Given the description of an element on the screen output the (x, y) to click on. 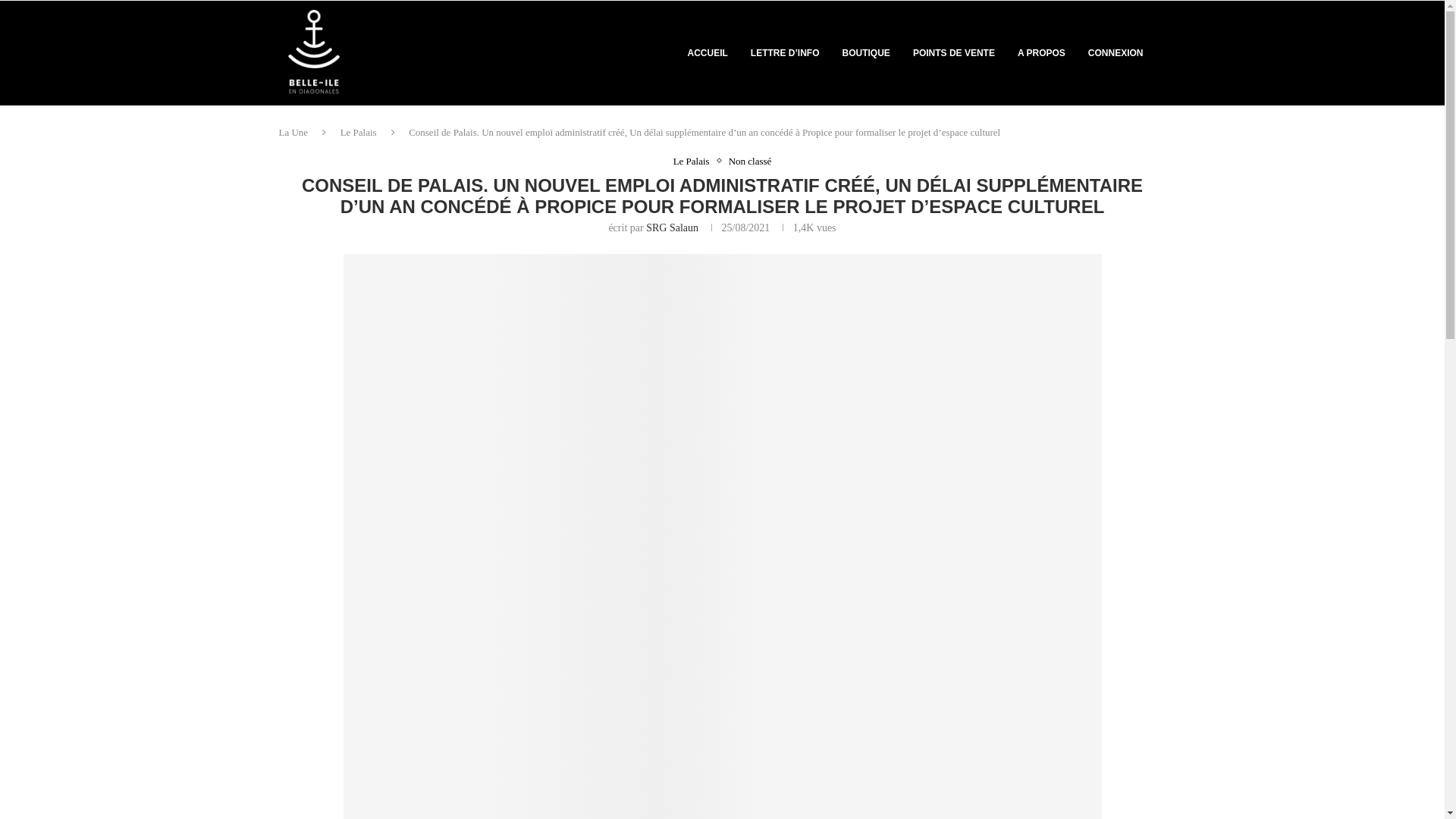
A PROPOS Element type: text (1041, 53)
CONNEXION Element type: text (1115, 53)
BOUTIQUE Element type: text (866, 53)
SRG Salaun Element type: text (672, 227)
ACCUEIL Element type: text (707, 53)
POINTS DE VENTE Element type: text (953, 53)
La Une Element type: text (293, 132)
Le Palais Element type: text (695, 161)
Le Palais Element type: text (358, 132)
